Given the description of an element on the screen output the (x, y) to click on. 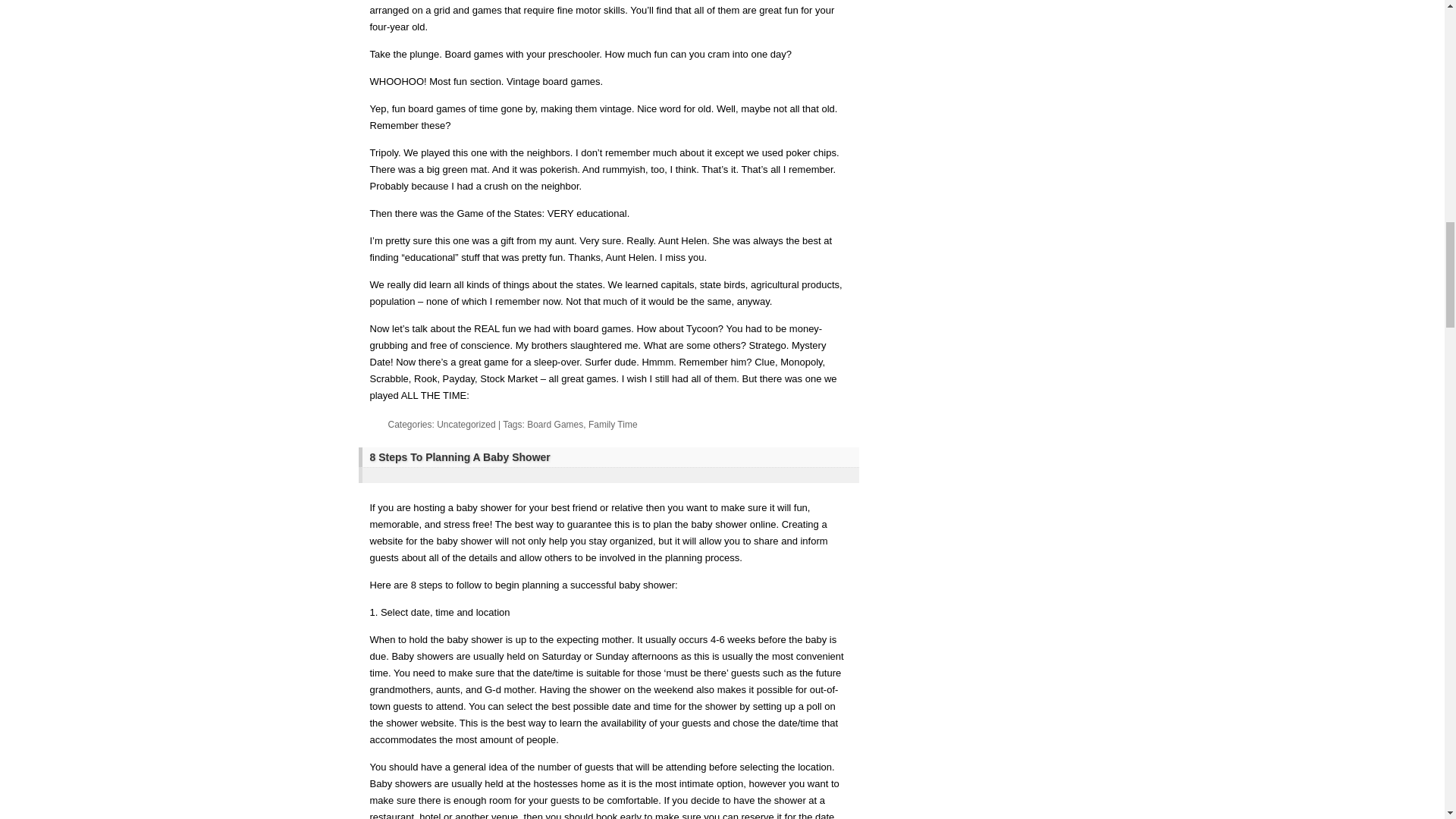
Board Games (555, 424)
Family Time (612, 424)
Uncategorized (465, 424)
View all posts in Uncategorized (465, 424)
8 Steps To Planning A Baby Shower (610, 456)
